Given the description of an element on the screen output the (x, y) to click on. 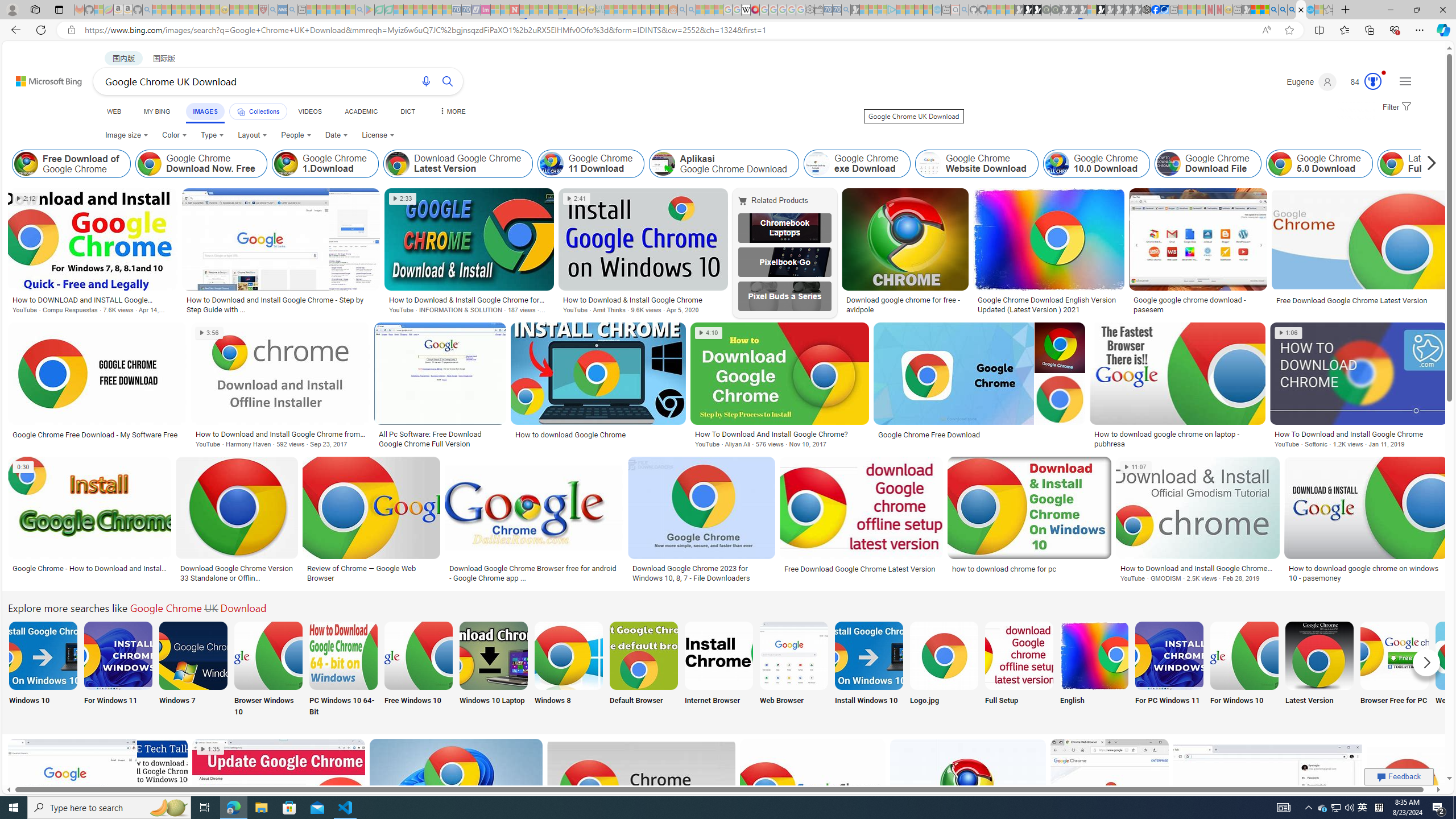
Aplikasi Google Chrome Download (723, 163)
Google Chrome Free Download - My Software Free (95, 434)
For Windows 10 (1243, 669)
Sign in to your account - Sleeping (1090, 9)
Google Chrome Web Browser Download Web Browser (794, 669)
MSN - Sleeping (1246, 9)
Google Chrome Download Free Windows 10 (418, 654)
